Given the description of an element on the screen output the (x, y) to click on. 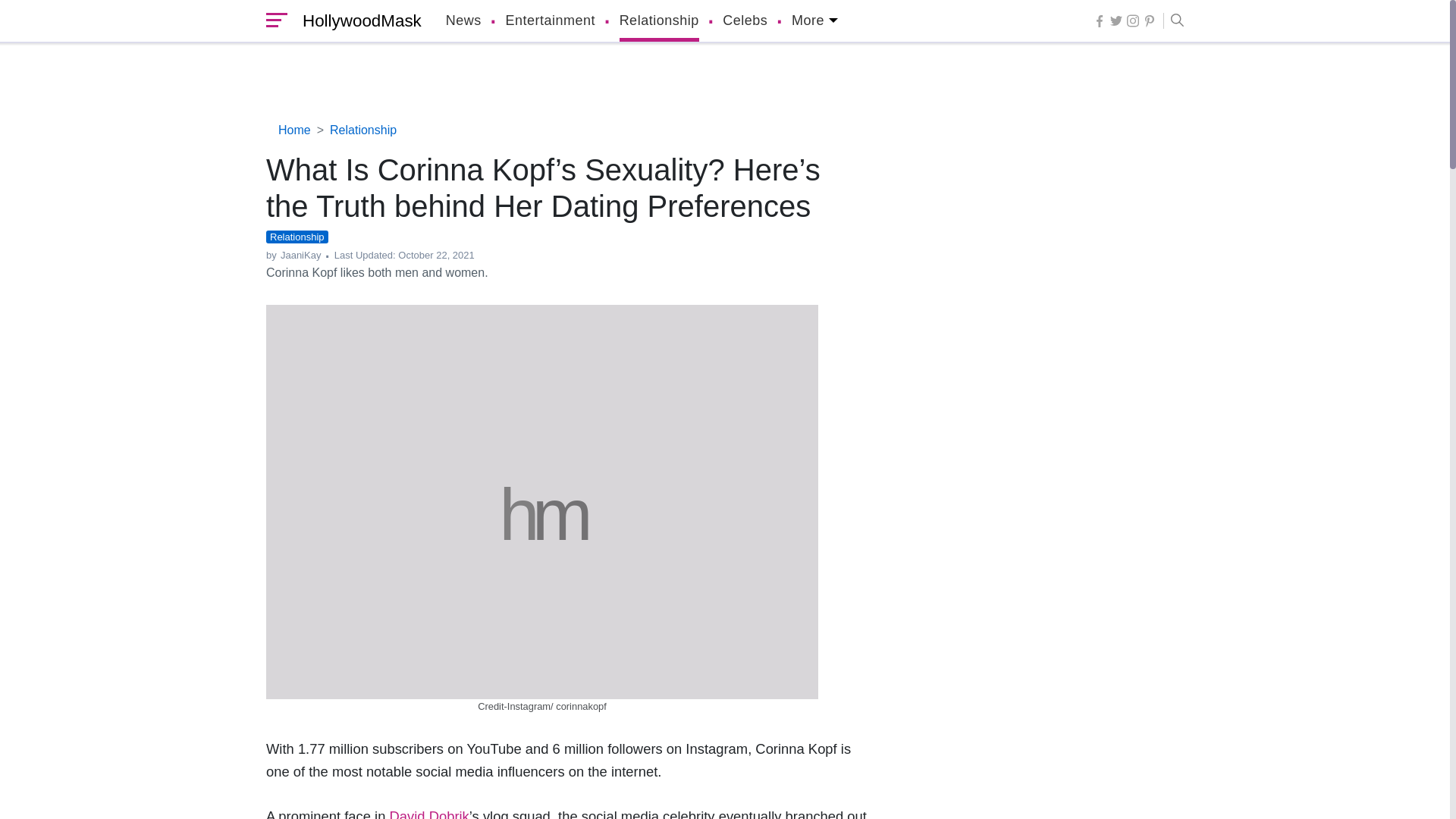
Entertainment (550, 20)
Follow Us On instagram (1132, 20)
Relationship (659, 20)
Celebs (744, 20)
More (815, 20)
Relationship (659, 20)
Search (1173, 20)
Celebs (744, 20)
HollywoodMask (358, 21)
HollywoodMask (358, 21)
